Given the description of an element on the screen output the (x, y) to click on. 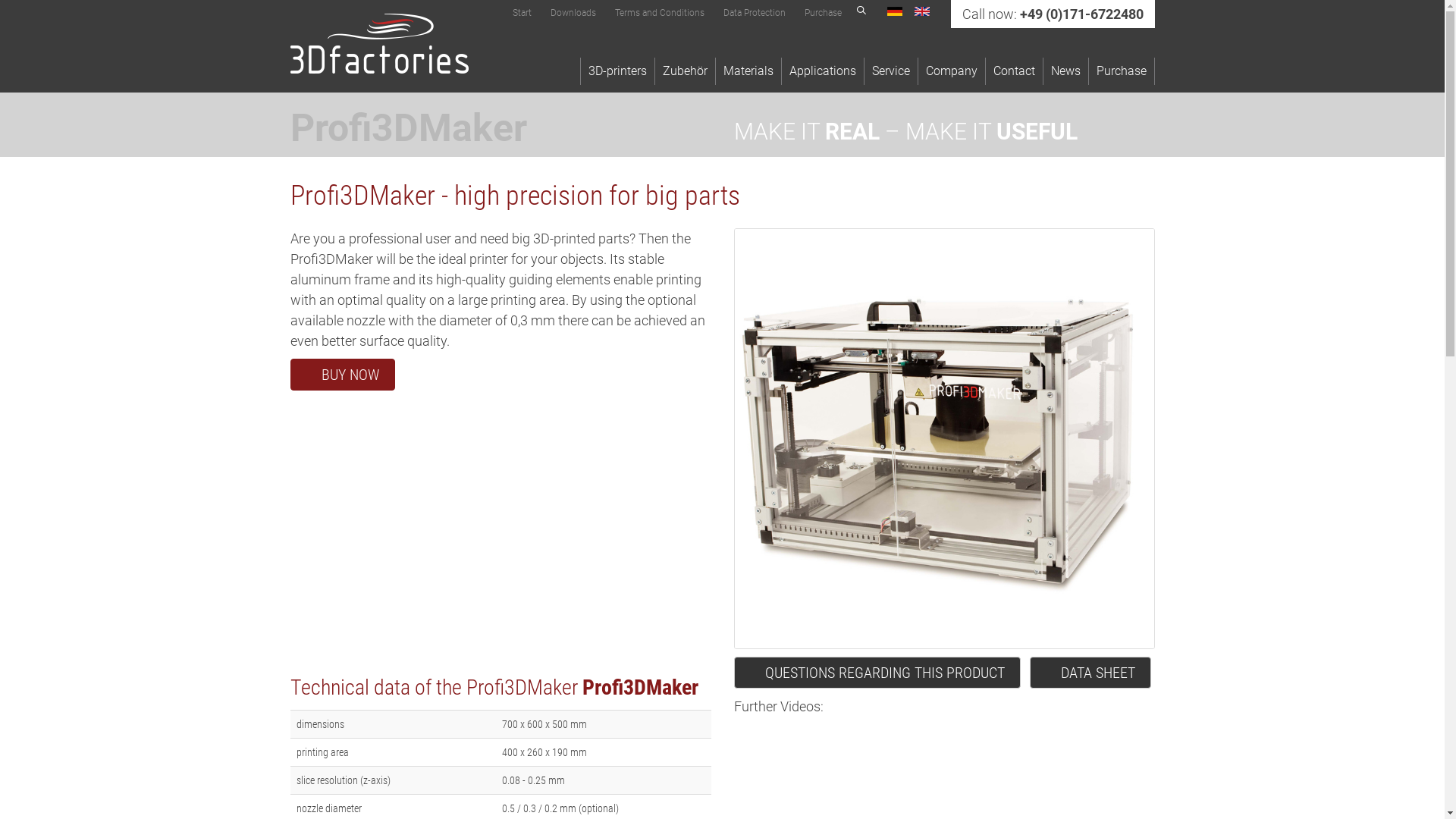
Materials Element type: text (748, 70)
Deutsch  Element type: hover (894, 10)
Purchase Element type: text (1121, 70)
Applications Element type: text (822, 70)
English Element type: hover (921, 10)
QUESTIONS REGARDING THIS PRODUCT Element type: text (877, 672)
News Element type: text (1065, 70)
Company Element type: text (951, 70)
Service Element type: text (891, 70)
Contact Element type: text (1014, 70)
  Element type: text (378, 43)
Downloads Element type: text (573, 12)
Purchase Element type: text (821, 12)
Terms and Conditions Element type: text (658, 12)
BUY NOW Element type: text (341, 374)
Start Element type: text (521, 12)
DATA SHEET Element type: text (1090, 672)
Data Protection Element type: text (754, 12)
3D-printers Element type: text (616, 70)
